Given the description of an element on the screen output the (x, y) to click on. 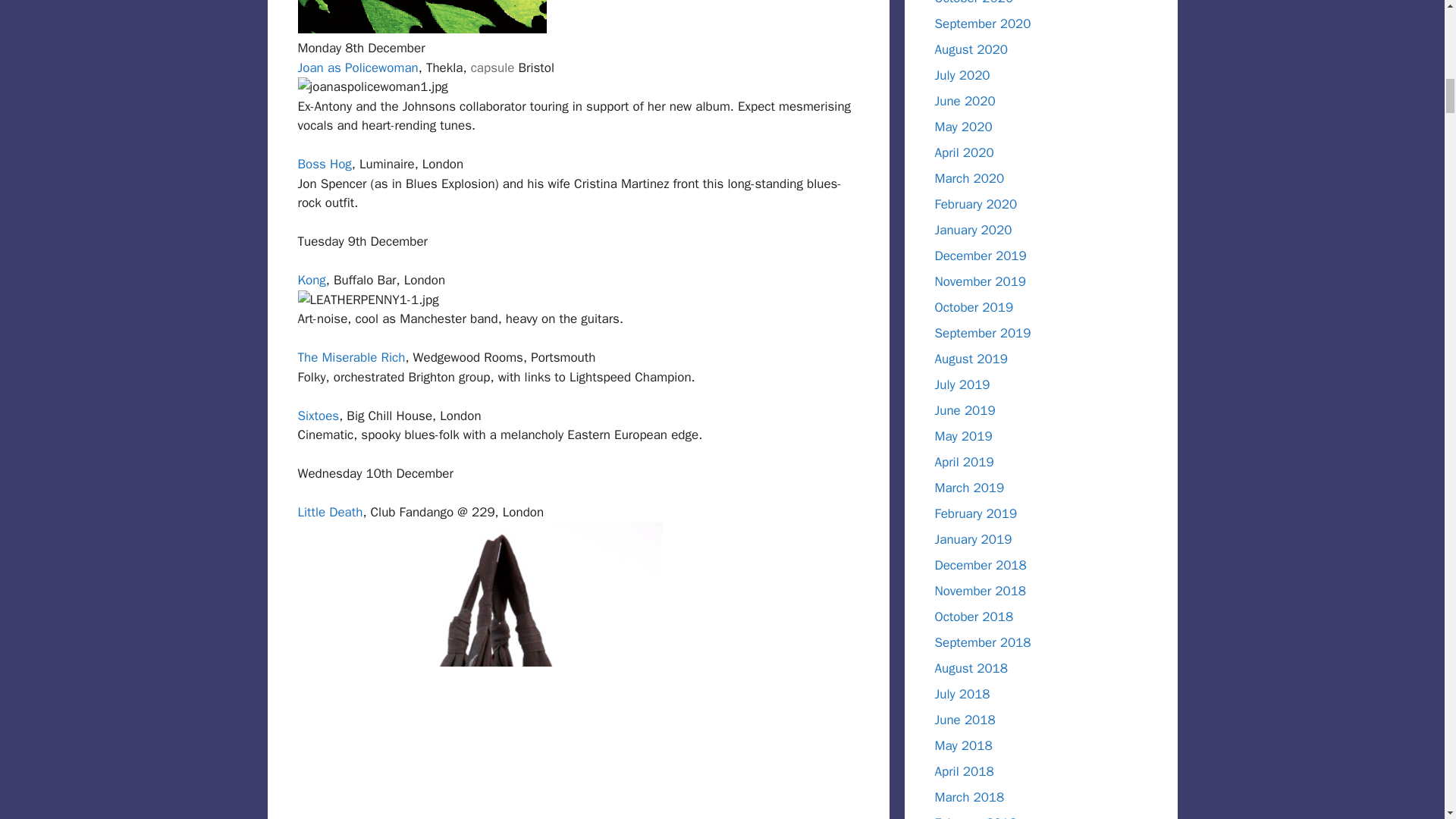
Little Death (329, 512)
Boss Hog (323, 163)
Kong (310, 279)
capsule (492, 67)
The Miserable Rich (350, 357)
Joan as Policewoman (357, 67)
Sixtoes (318, 415)
